Given the description of an element on the screen output the (x, y) to click on. 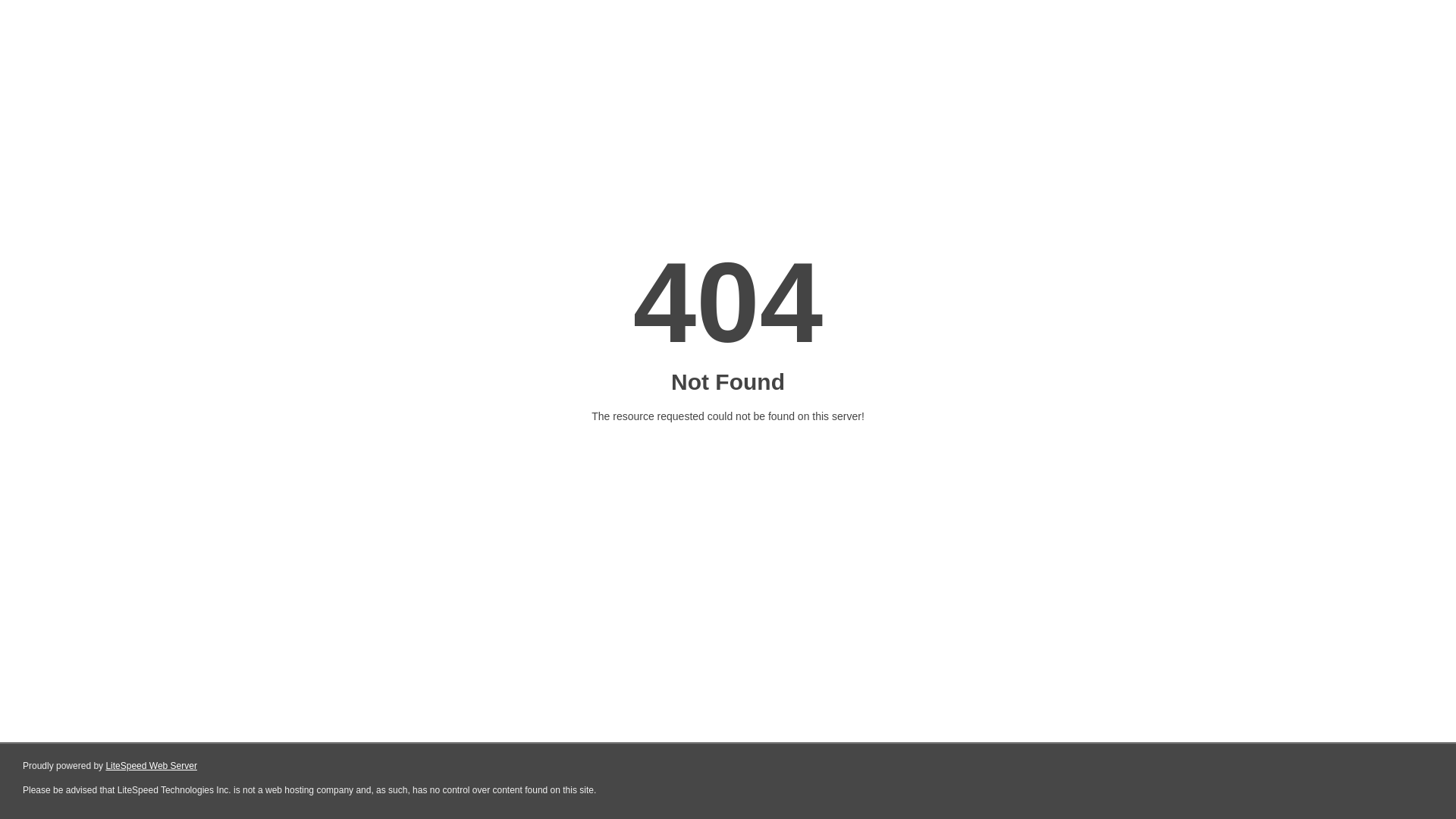
LiteSpeed Web Server Element type: text (151, 765)
